Given the description of an element on the screen output the (x, y) to click on. 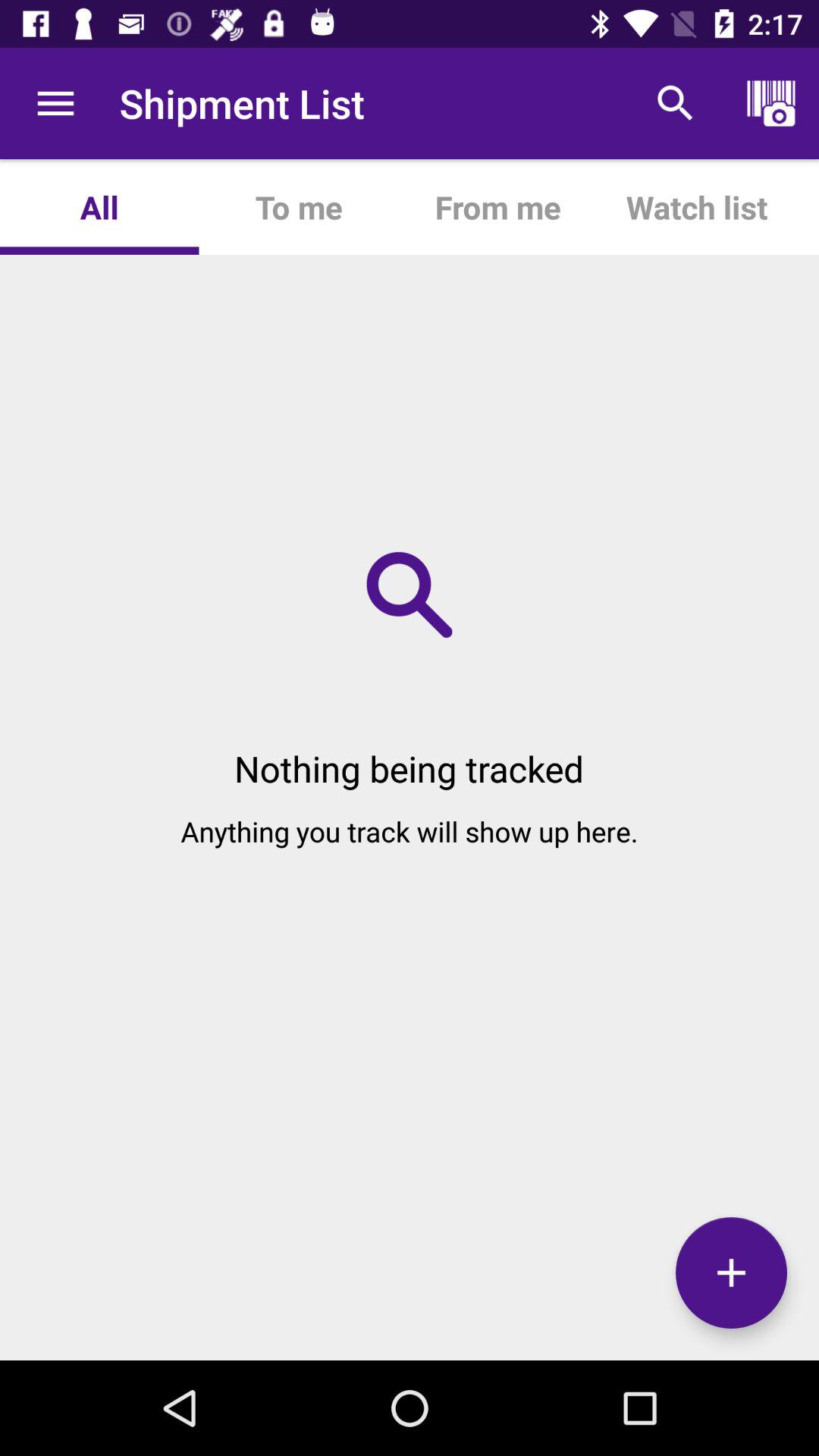
jump until to me app (298, 206)
